Given the description of an element on the screen output the (x, y) to click on. 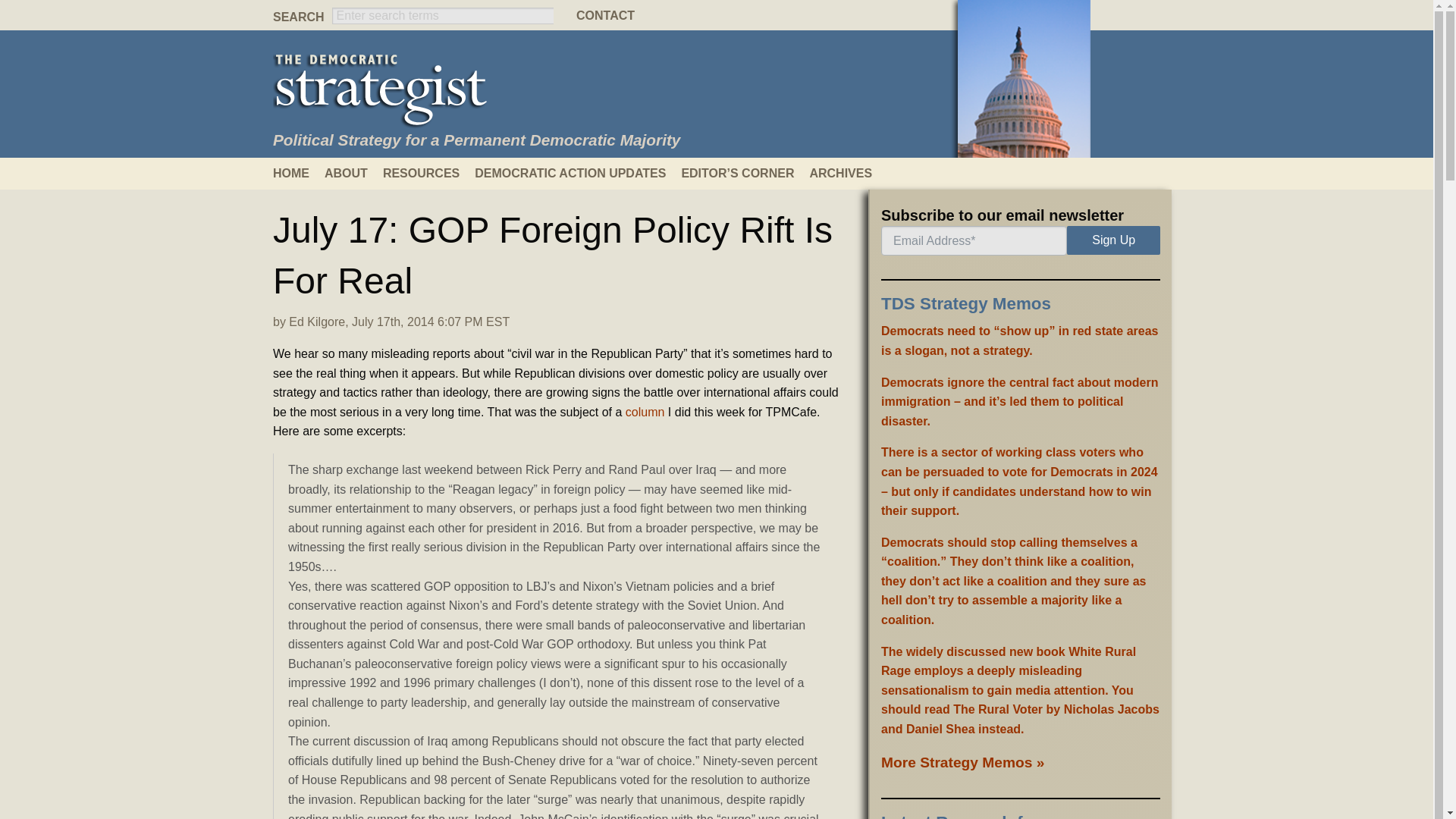
Archives (847, 173)
Democratic Action Updates (577, 173)
About (353, 173)
Posts by Ed Kilgore (316, 321)
column (645, 411)
DEMOCRATIC ACTION UPDATES (577, 173)
CONTACT (716, 15)
RESOURCES (428, 173)
ARCHIVES (847, 173)
Home (298, 173)
CONTACT  (716, 15)
Resources (428, 173)
ABOUT (353, 173)
Ed Kilgore (316, 321)
